Given the description of an element on the screen output the (x, y) to click on. 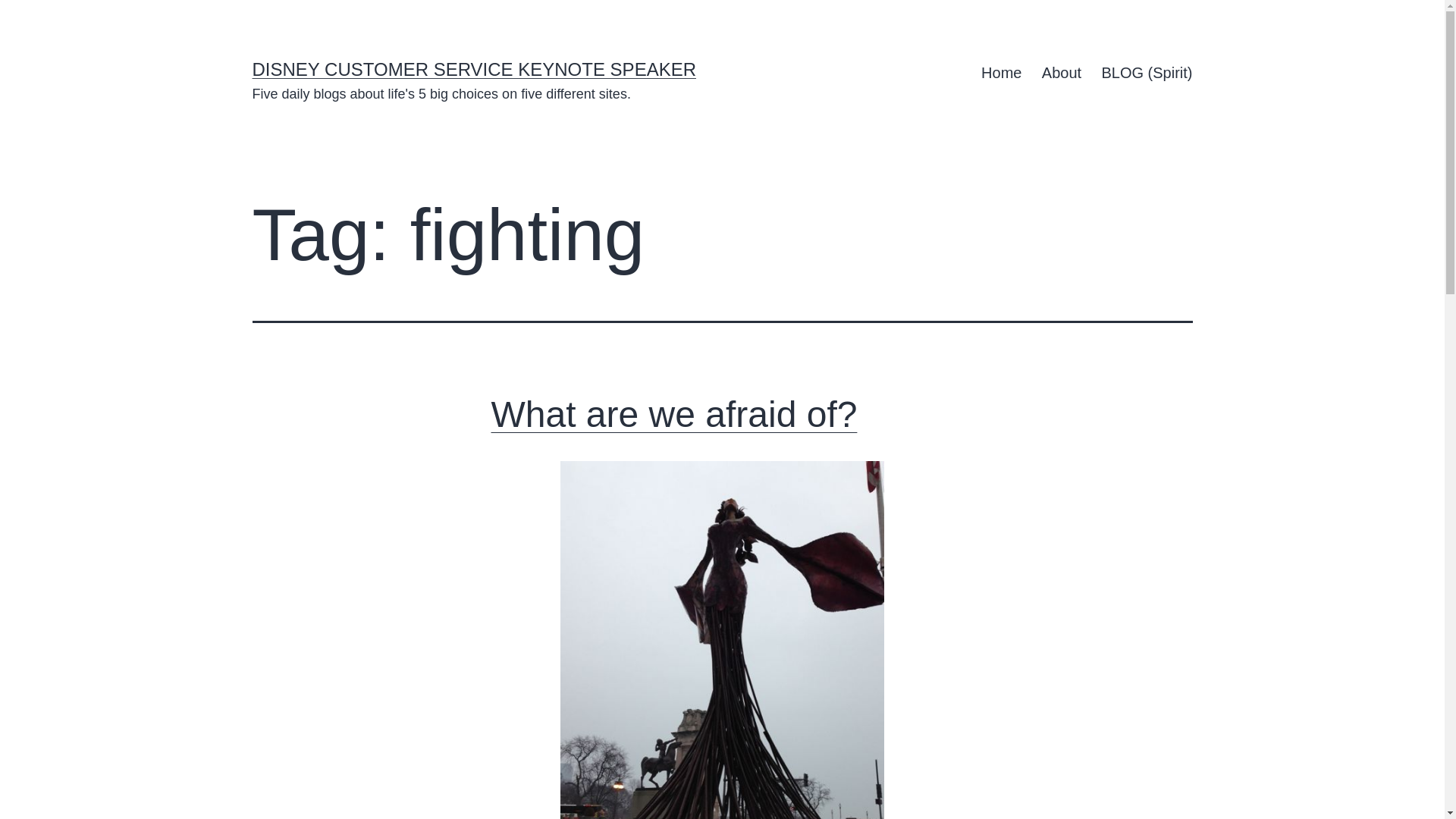
About (1062, 72)
DISNEY CUSTOMER SERVICE KEYNOTE SPEAKER (473, 68)
Home (1001, 72)
What are we afraid of? (674, 413)
